Given the description of an element on the screen output the (x, y) to click on. 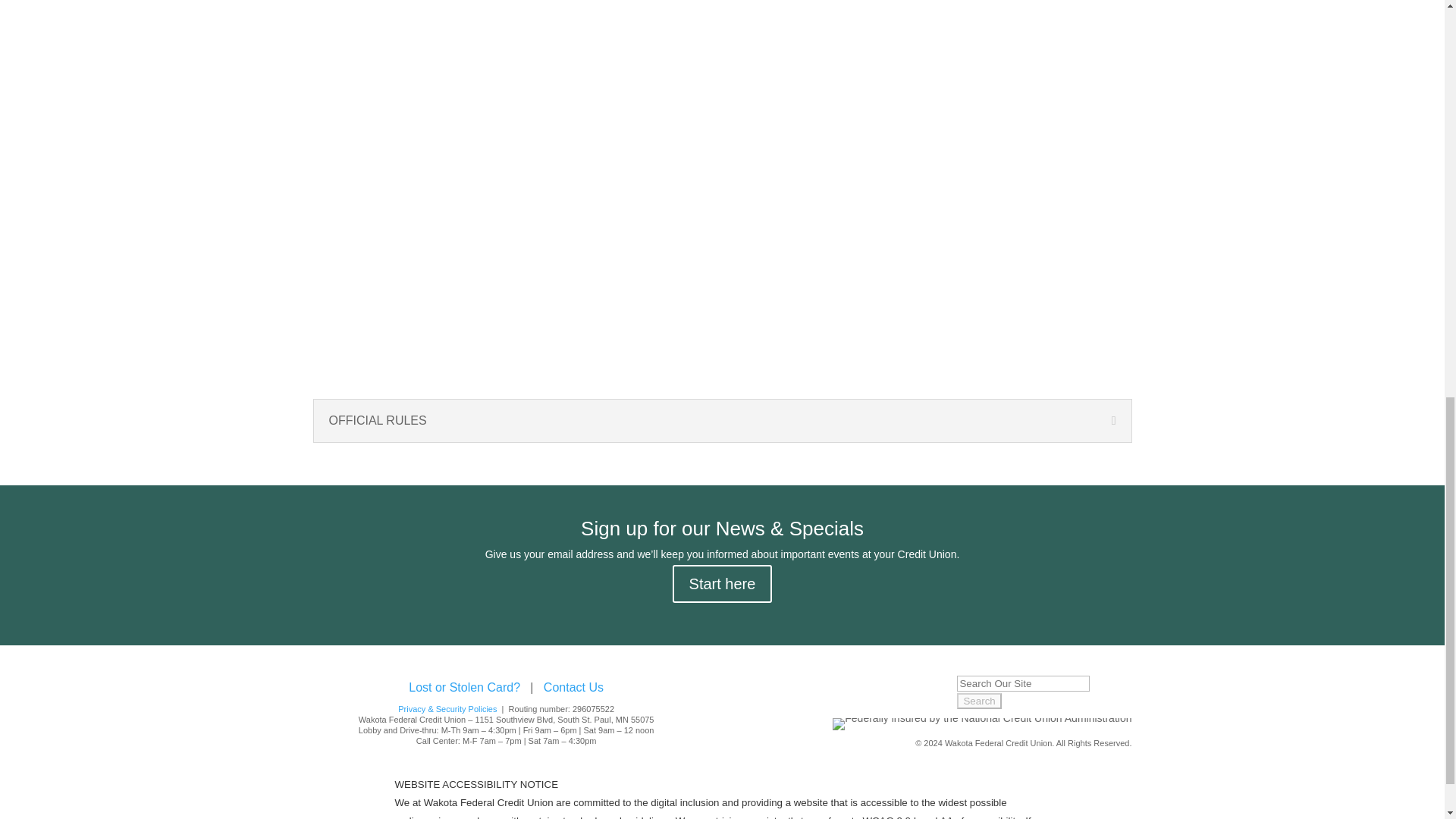
Search (978, 700)
Search (978, 700)
